Given the description of an element on the screen output the (x, y) to click on. 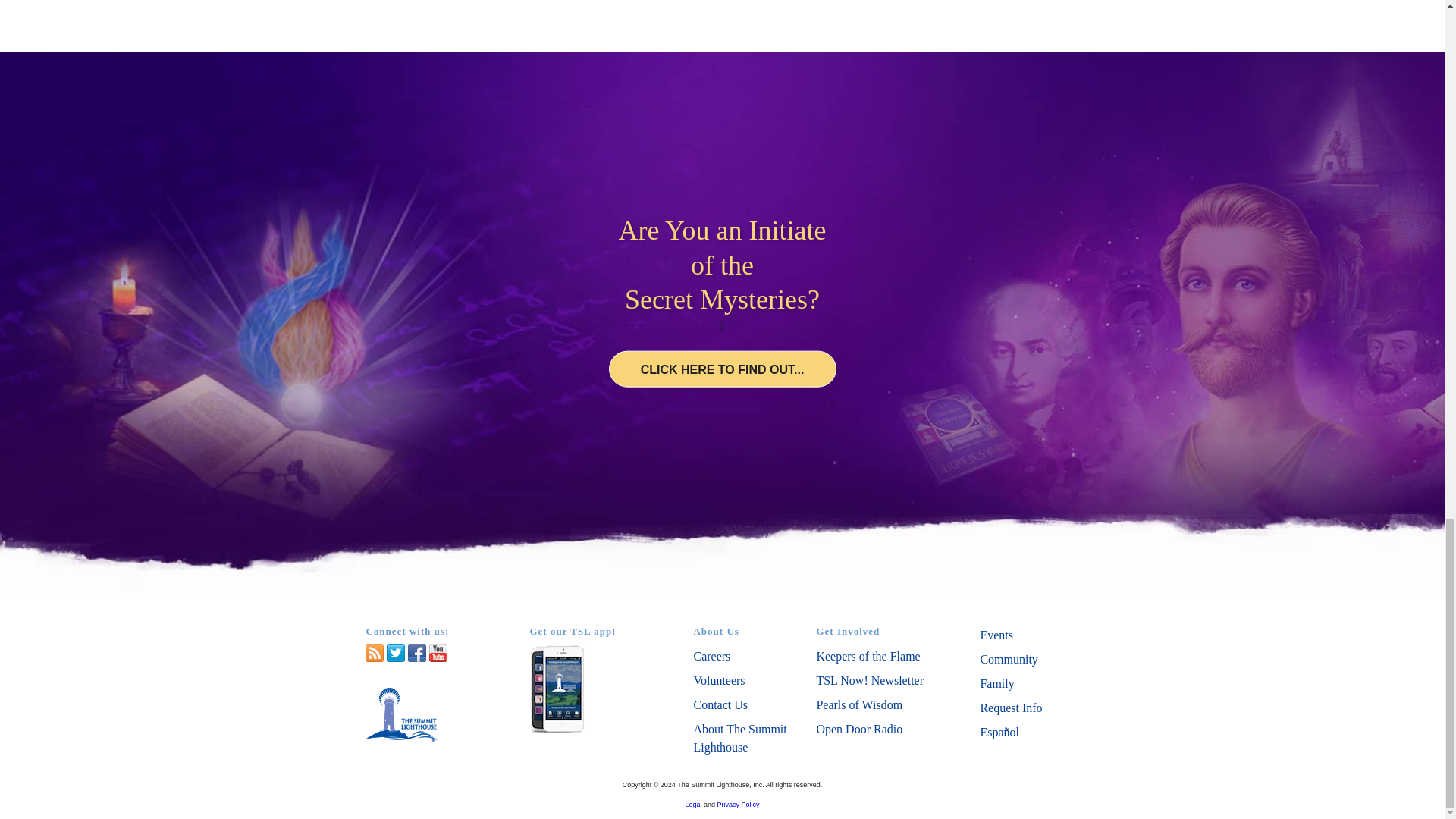
Subscribe for your monthly newsletter from TSL (869, 680)
